Given the description of an element on the screen output the (x, y) to click on. 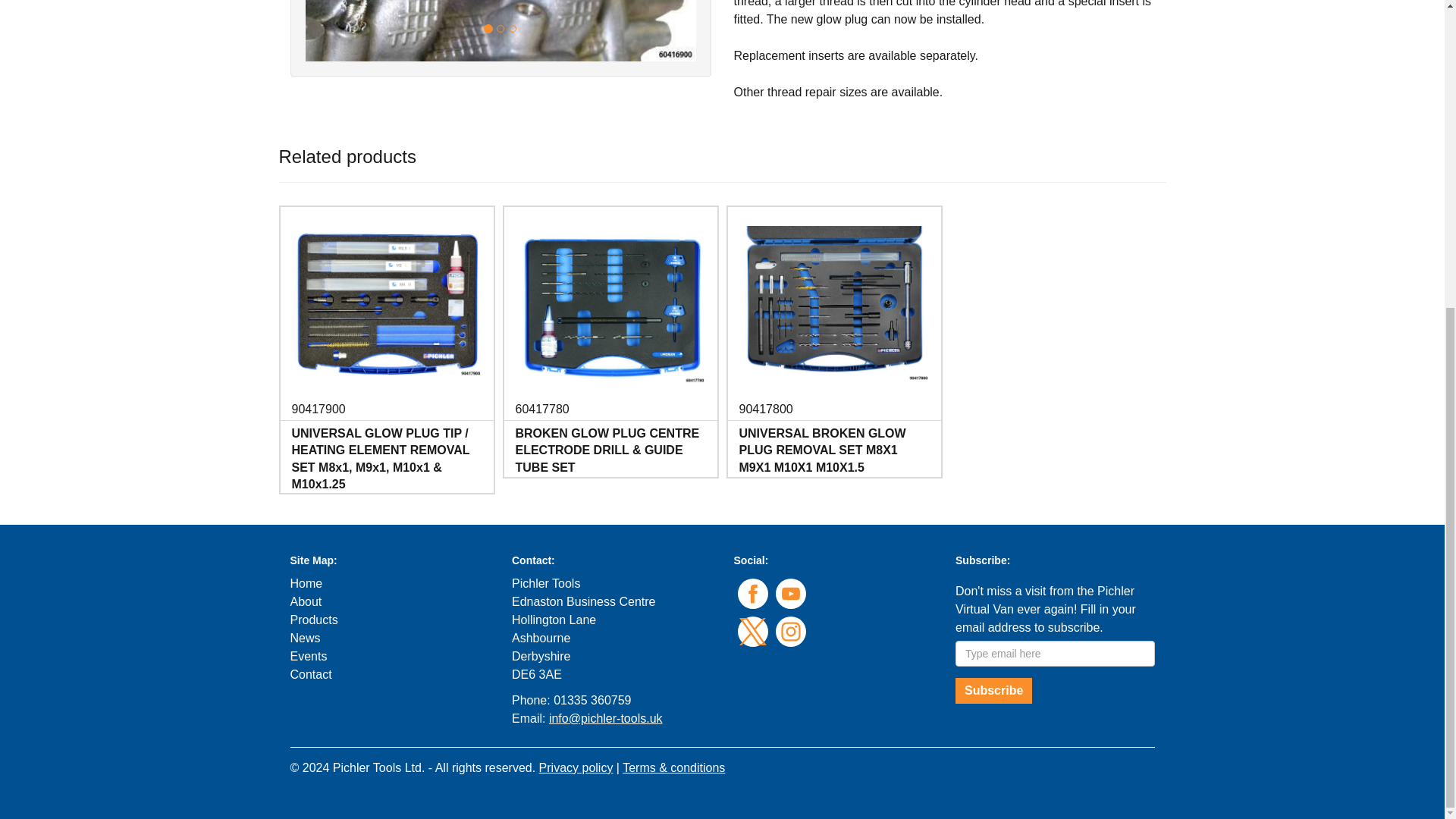
Contact (310, 674)
01335 360759 (591, 699)
Instagram social icon (789, 631)
YouTube social icon (789, 593)
Subscribe (993, 690)
Events (307, 656)
Instagram social icon (789, 631)
Next (666, 30)
Facebook social icon (751, 593)
Privacy policy (575, 767)
Facebook social icon (751, 593)
YouTube social icon (789, 593)
Twitter X social icon (751, 631)
News (304, 637)
